Given the description of an element on the screen output the (x, y) to click on. 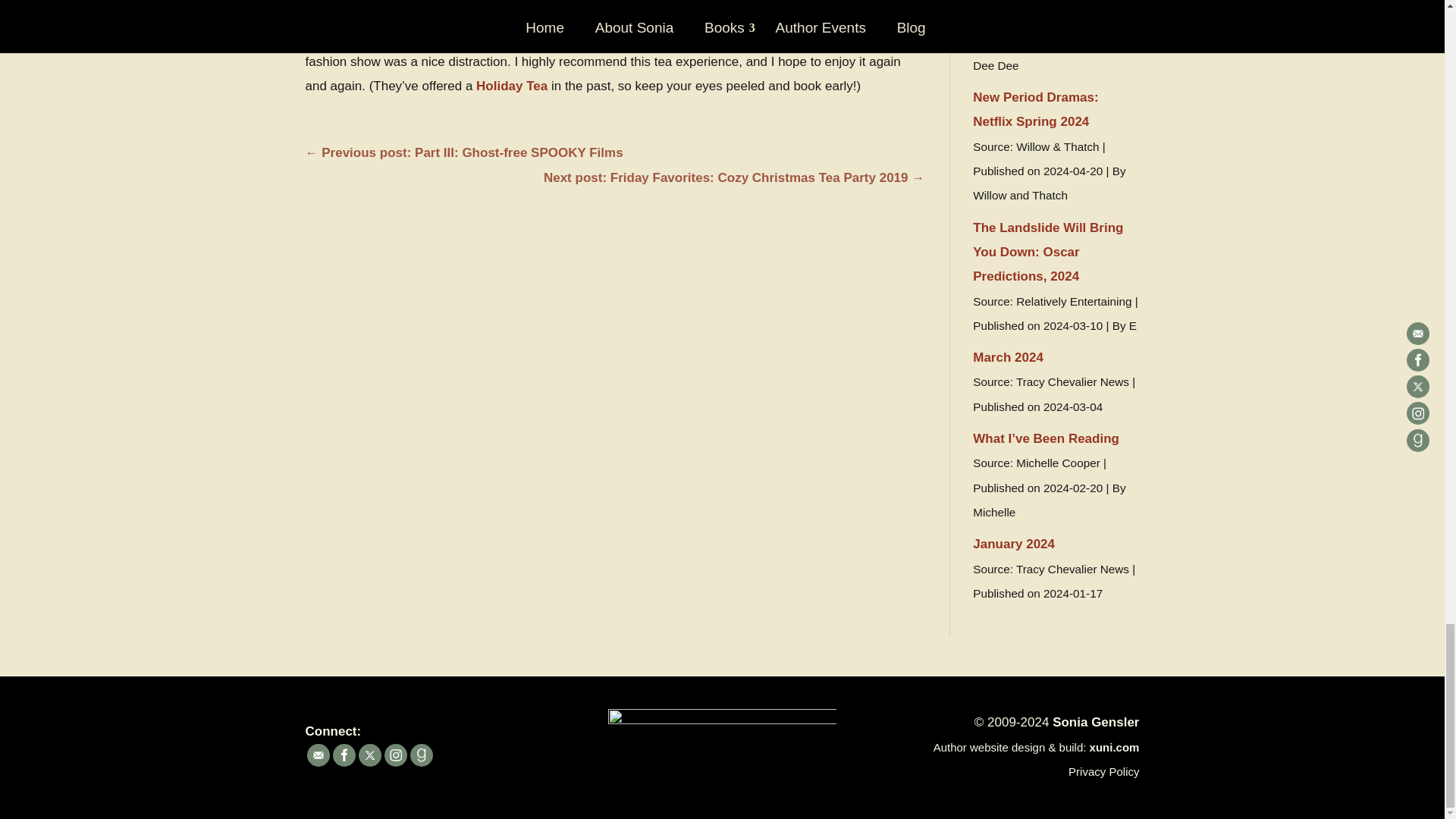
Holiday Tea (511, 85)
sonia-footer3 (721, 747)
